Given the description of an element on the screen output the (x, y) to click on. 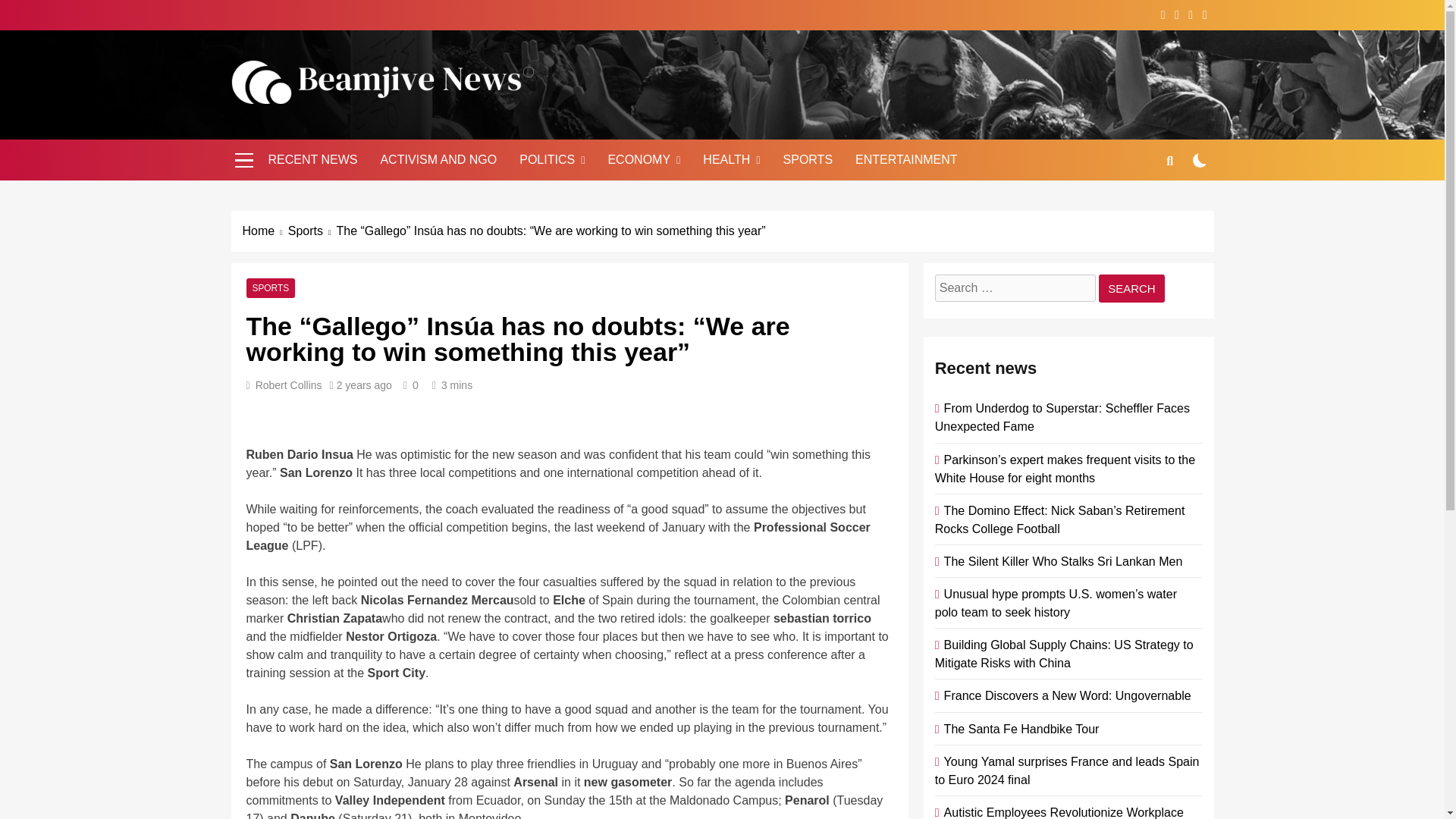
ENTERTAINMENT (906, 159)
on (1199, 160)
Beamjive News (346, 125)
HEALTH (731, 159)
RECENT NEWS (312, 159)
Sports (312, 230)
POLITICS (551, 159)
SPORTS (807, 159)
Search (1131, 288)
Home (265, 230)
SPORTS (269, 287)
Search (1131, 288)
Robert Collins (288, 385)
ECONOMY (643, 159)
2 years ago (363, 385)
